Given the description of an element on the screen output the (x, y) to click on. 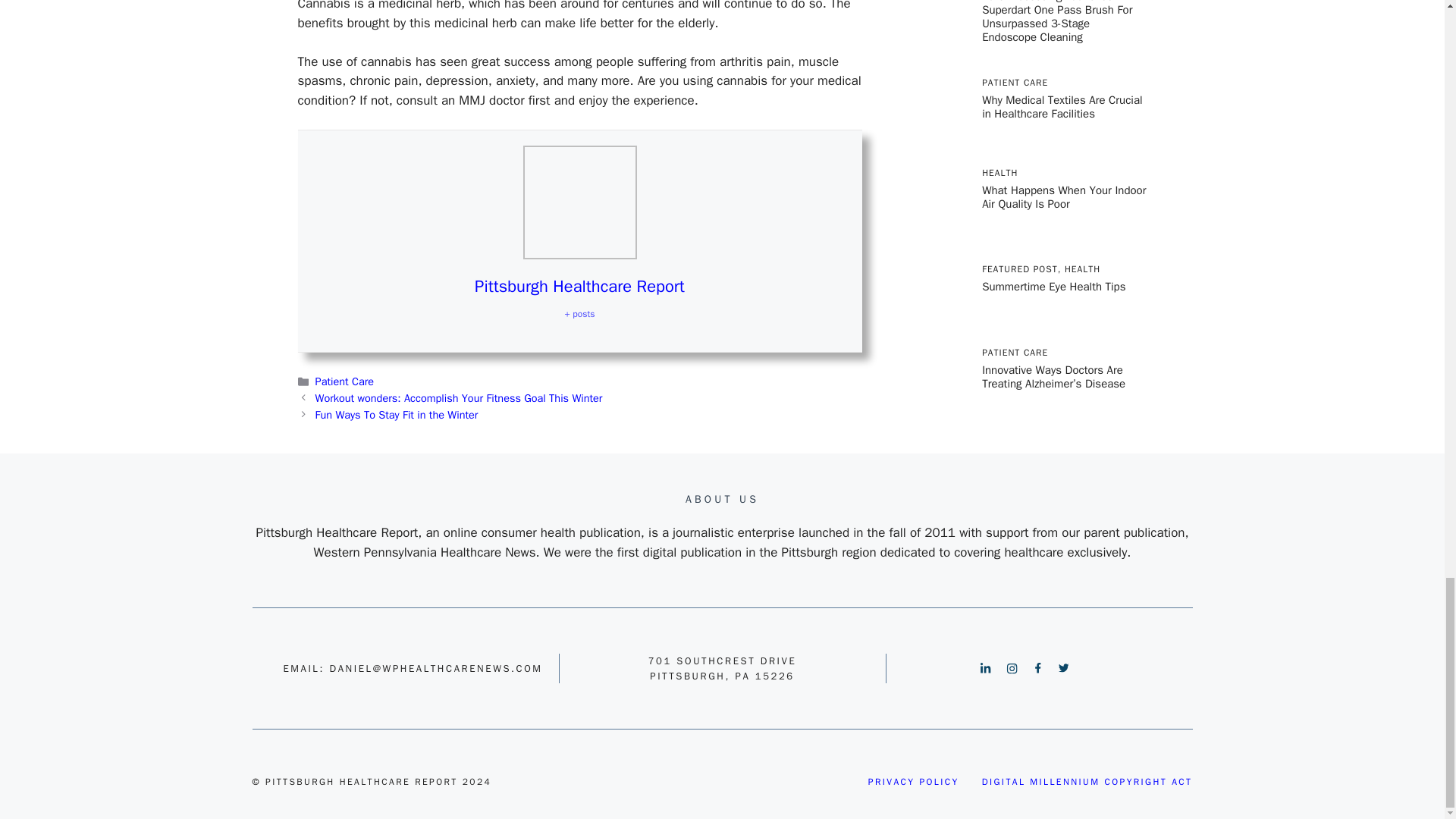
Workout wonders: Accomplish Your Fitness Goal This Winter (458, 397)
Fun Ways To Stay Fit in the Winter (397, 414)
Patient Care (344, 381)
Pittsburgh Healthcare Report (579, 286)
Seniors and Medical Marijuana: What Should You Know? 1 (579, 202)
